Given the description of an element on the screen output the (x, y) to click on. 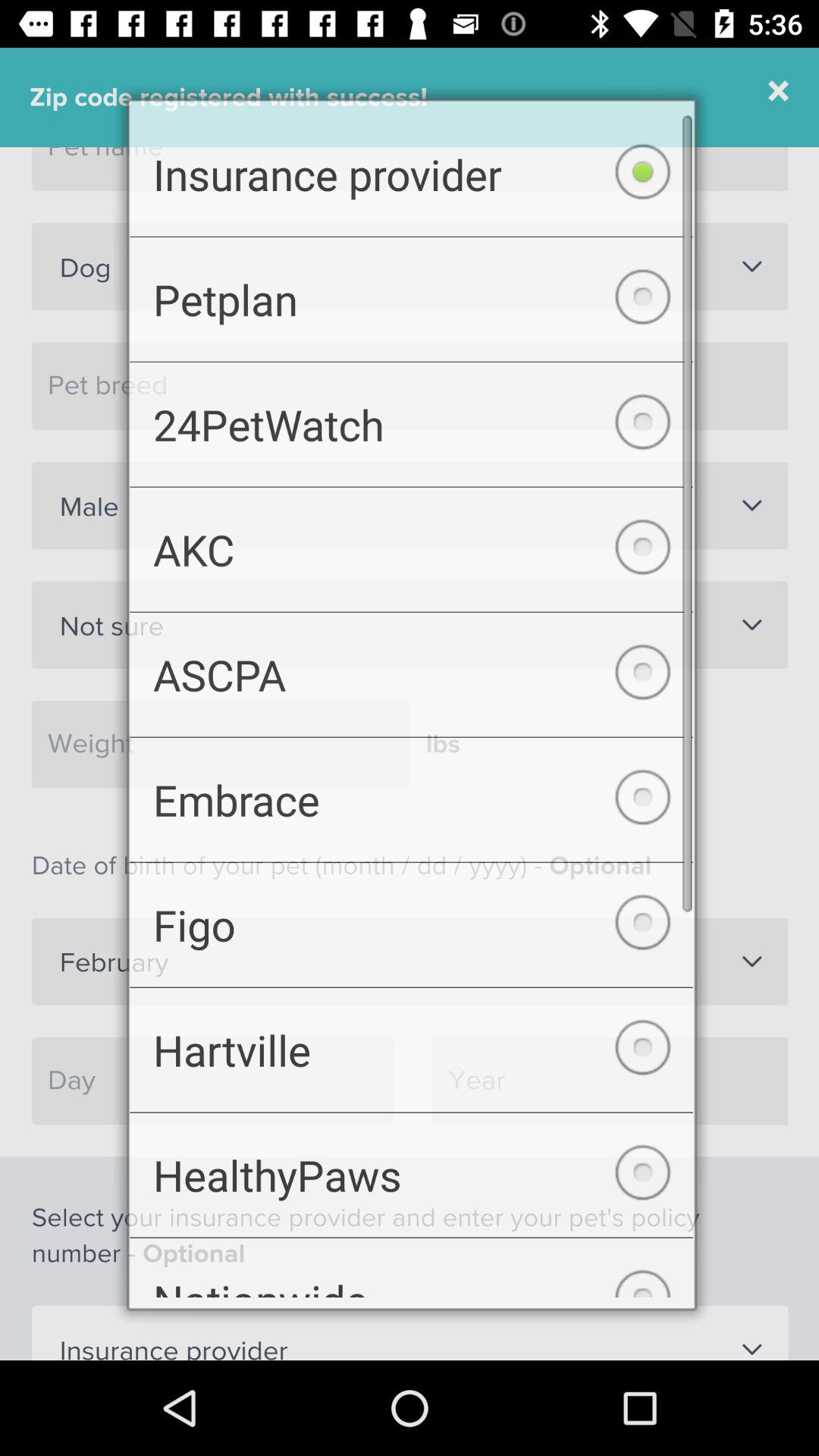
flip until embrace checkbox (411, 802)
